Given the description of an element on the screen output the (x, y) to click on. 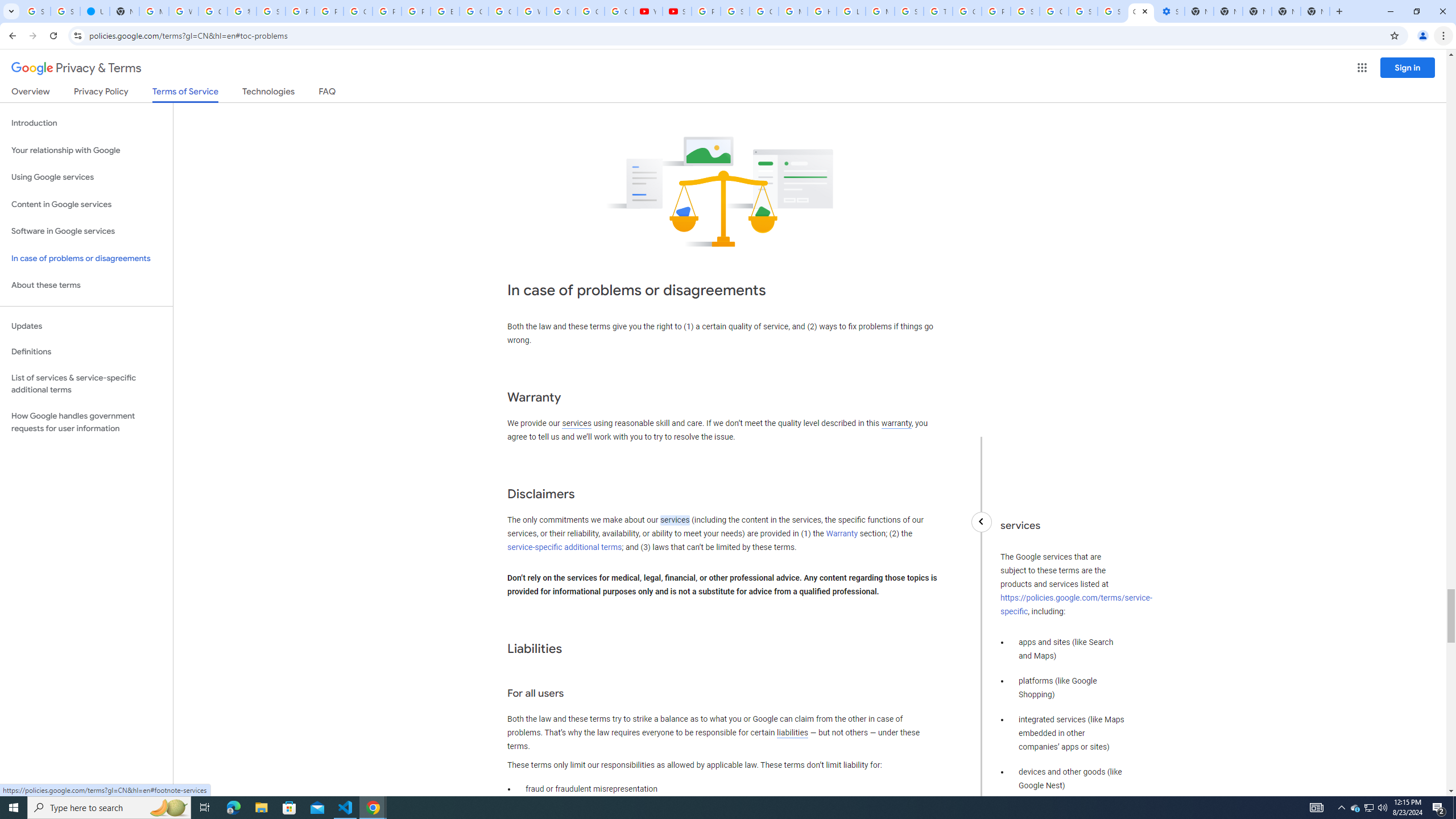
Create your Google Account (357, 11)
About these terms (86, 284)
Google Cybersecurity Innovations - Google Safety Center (1054, 11)
Welcome to My Activity (531, 11)
Content in Google services (86, 204)
https://policies.google.com/terms/service-specific (1075, 604)
Sign in - Google Accounts (1111, 11)
Software in Google services (86, 230)
Google Slides: Sign-in (473, 11)
